Given the description of an element on the screen output the (x, y) to click on. 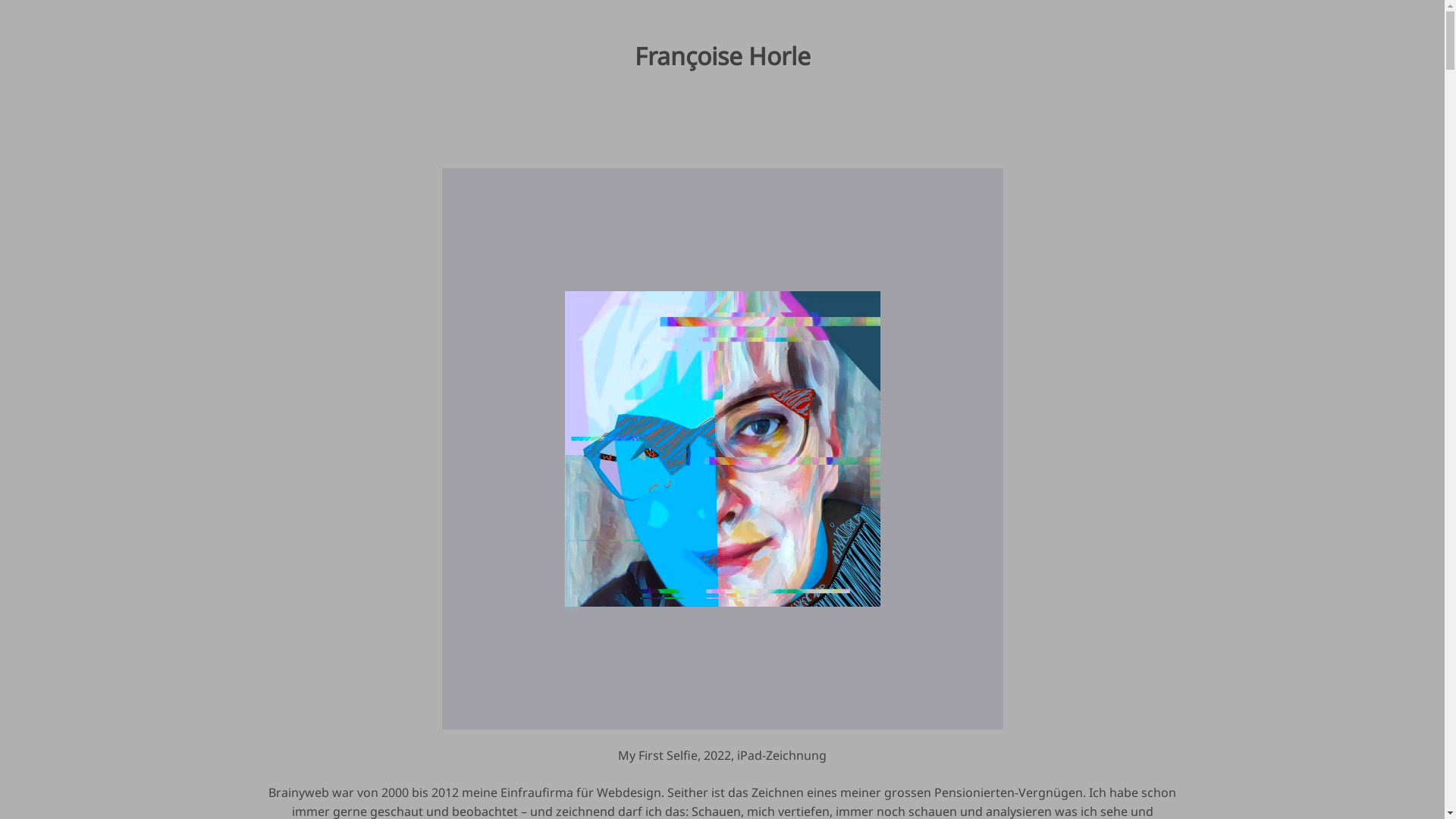
Zum Inhalt springen Element type: text (0, 0)
